Given the description of an element on the screen output the (x, y) to click on. 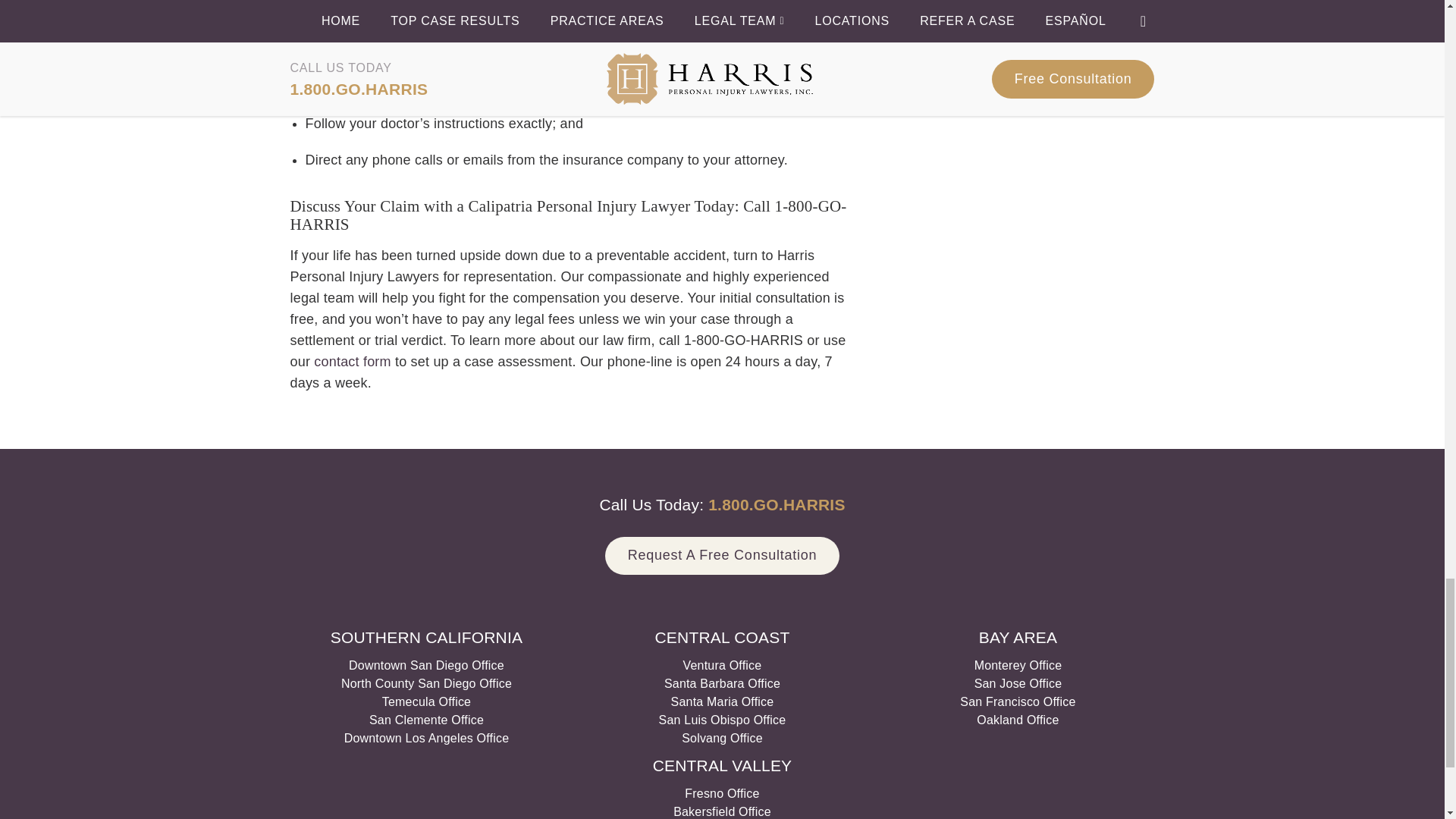
1.800.GO.HARRIS (775, 504)
 contact form (350, 360)
North County San Diego Office (426, 683)
San Clemente Office (426, 719)
Request A Free Consultation (722, 556)
Downtown San Diego Office (426, 664)
Temecula Office (425, 701)
